Given the description of an element on the screen output the (x, y) to click on. 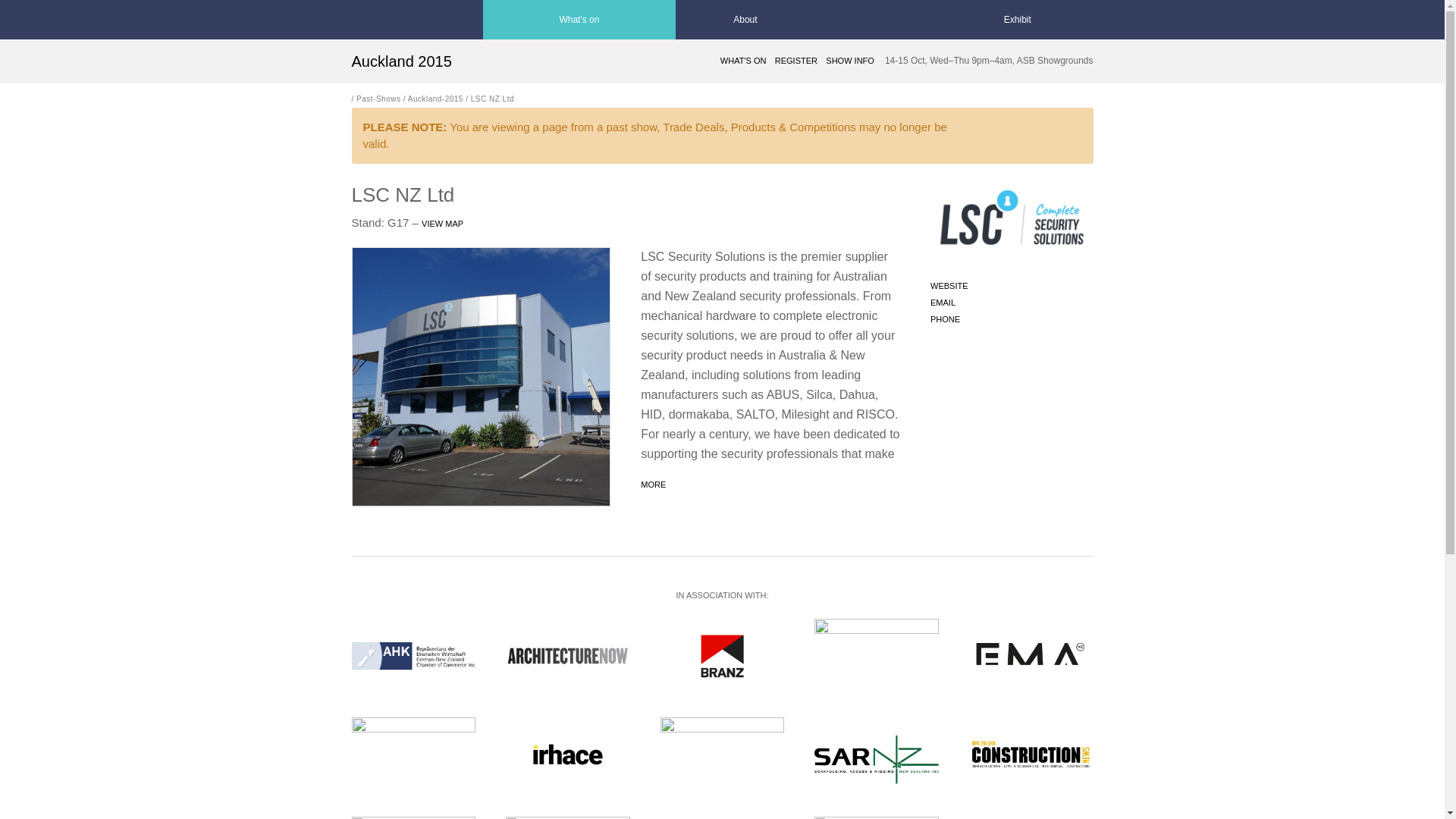
Exhibitor info (1017, 19)
What's on at  (745, 19)
VIEW MAP (442, 223)
What's on at  (579, 19)
Auckland-2015 (435, 99)
EMAIL (942, 302)
What's on (579, 19)
WEBSITE (949, 285)
PHONE (944, 318)
REGISTER (795, 60)
